Given the description of an element on the screen output the (x, y) to click on. 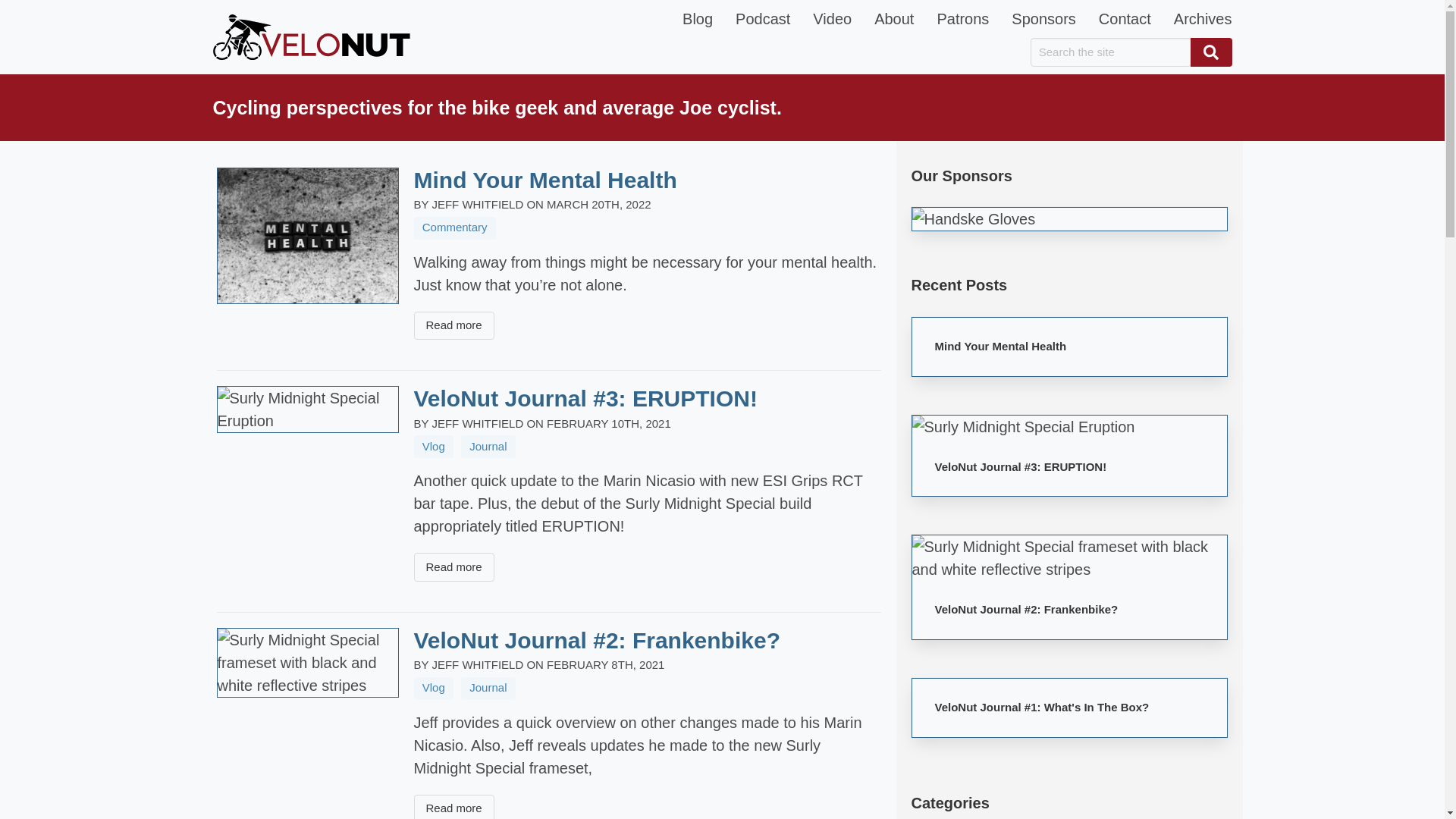
Read more (454, 326)
Sponsors (1043, 18)
Vlog (433, 445)
Vlog (433, 688)
Archives (1202, 18)
Patrons (962, 18)
About (893, 18)
Blog (697, 18)
Read more (454, 806)
Podcast (762, 18)
